Given the description of an element on the screen output the (x, y) to click on. 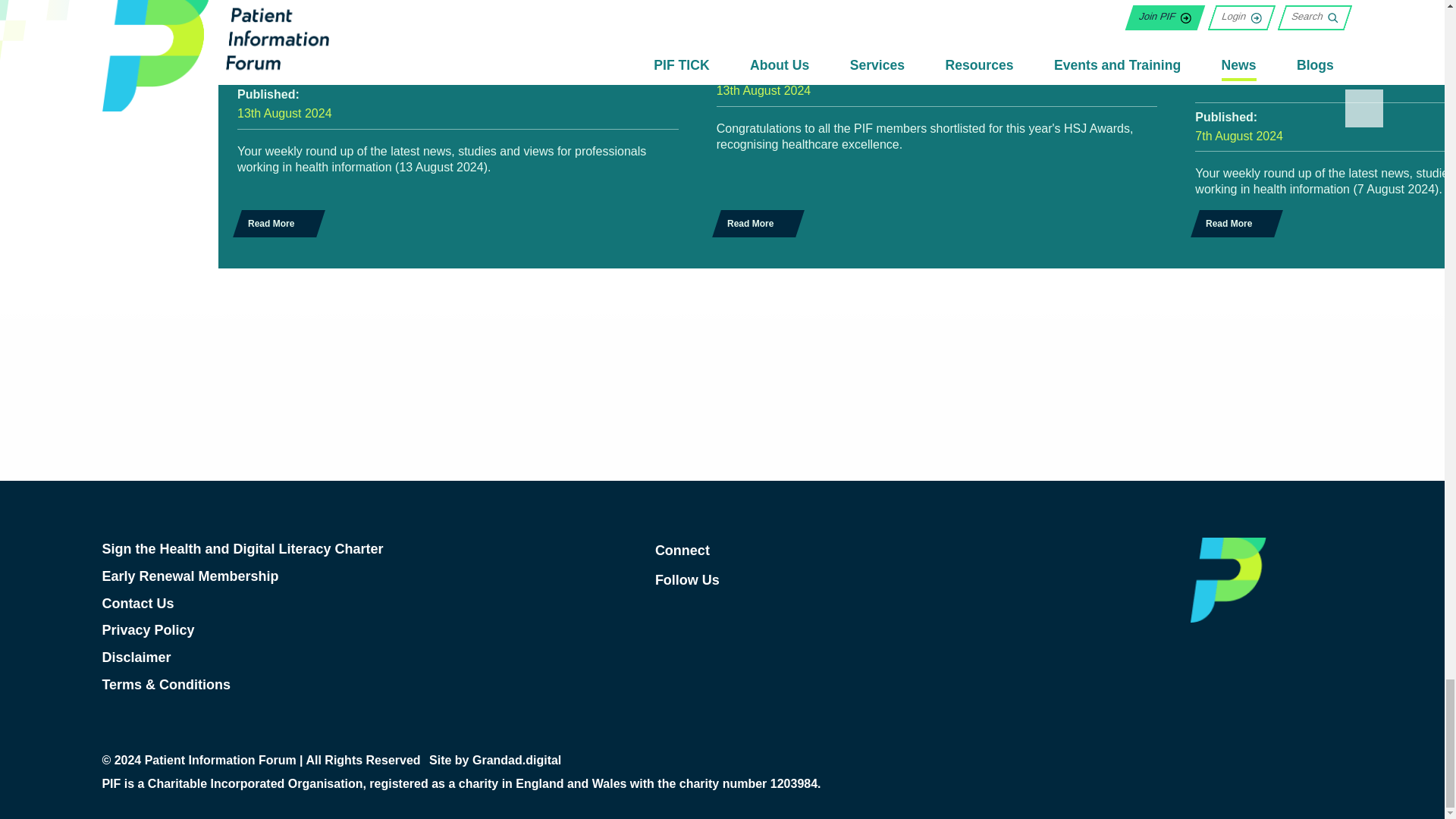
Twitter (864, 579)
Grandad Digital (515, 760)
LinkedIn (864, 550)
